Given the description of an element on the screen output the (x, y) to click on. 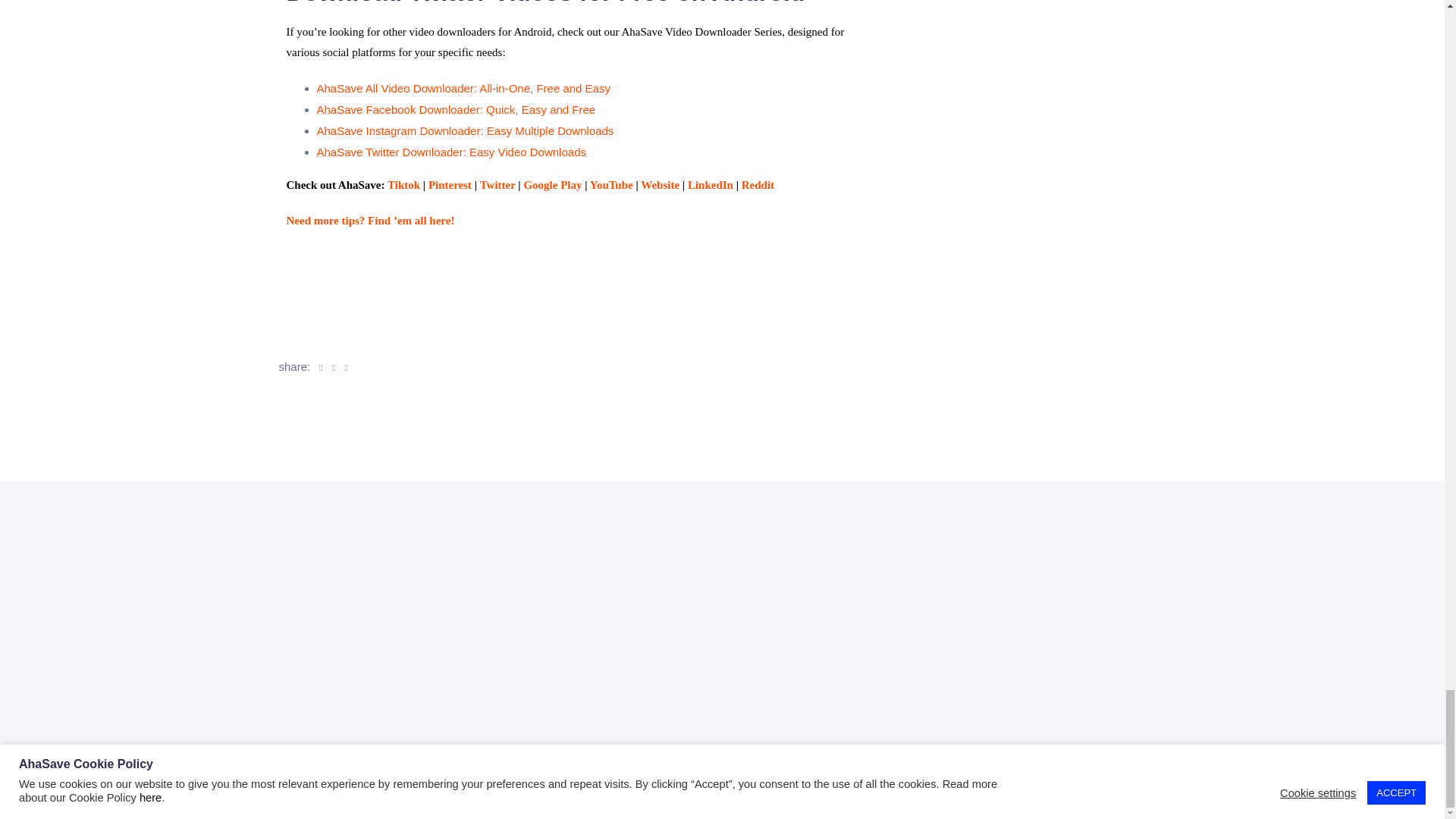
Tiktok (403, 184)
Pinterest (449, 184)
Reddit (757, 184)
Google Play (551, 184)
AhaSave Facebook Downloader: Quick, Easy and Free (456, 109)
AhaSave Twitter Downloader: Easy Video Downloads (451, 151)
AhaSave All Video Downloader: All-in-One, Free and Easy (463, 88)
Website (659, 184)
Twitter (497, 184)
AhaSave Instagram Downloader: Easy Multiple Downloads (465, 130)
LinkedIn (710, 184)
YouTube (611, 184)
